Given the description of an element on the screen output the (x, y) to click on. 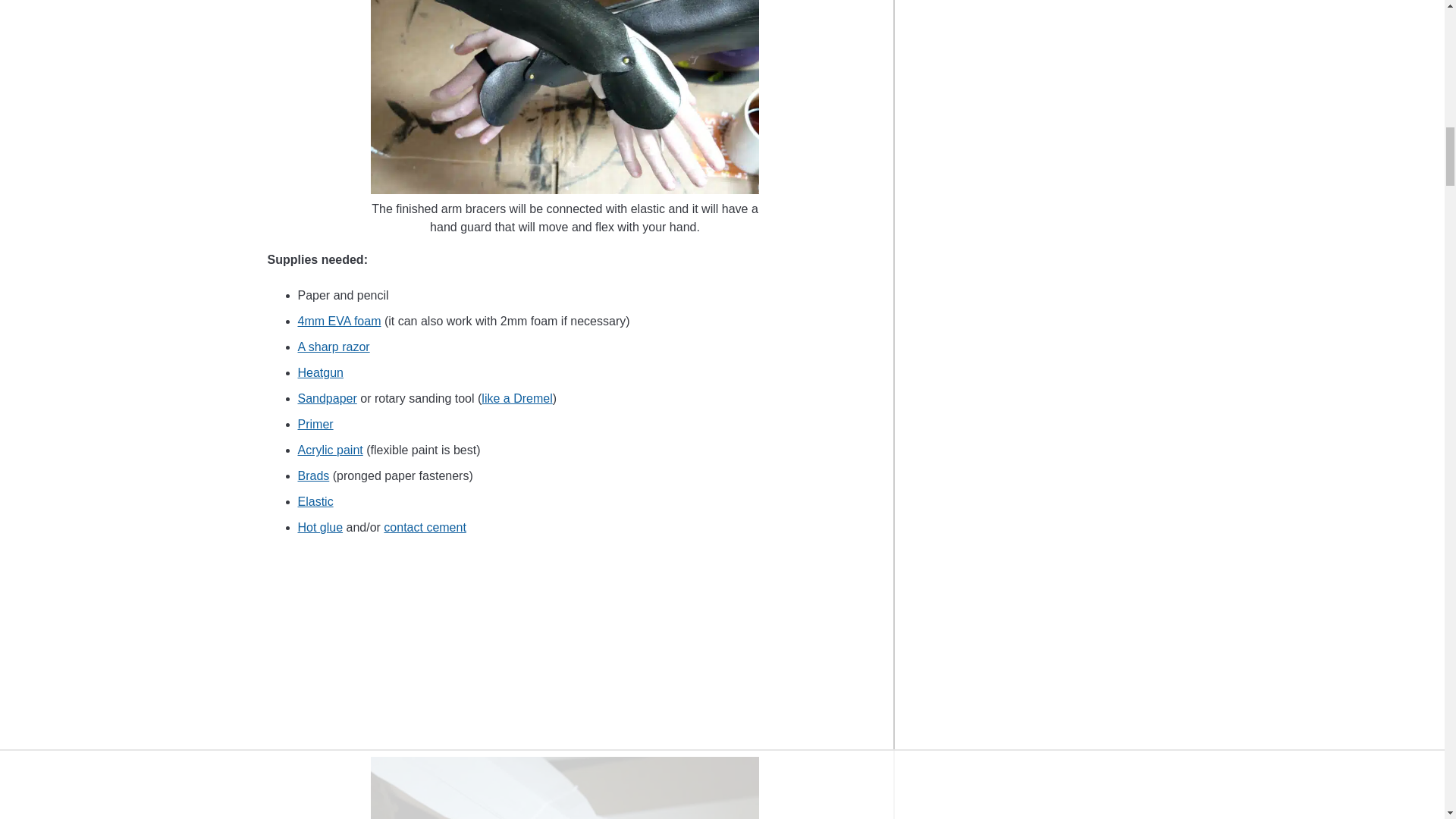
like a Dremel (516, 398)
Hot glue (319, 526)
contact cement (424, 526)
Heatgun (320, 372)
Elastic (315, 501)
Sandpaper (326, 398)
A sharp razor (333, 346)
Primer (315, 423)
Brads (313, 475)
Acrylic paint (329, 449)
4mm EVA foam (338, 320)
